Given the description of an element on the screen output the (x, y) to click on. 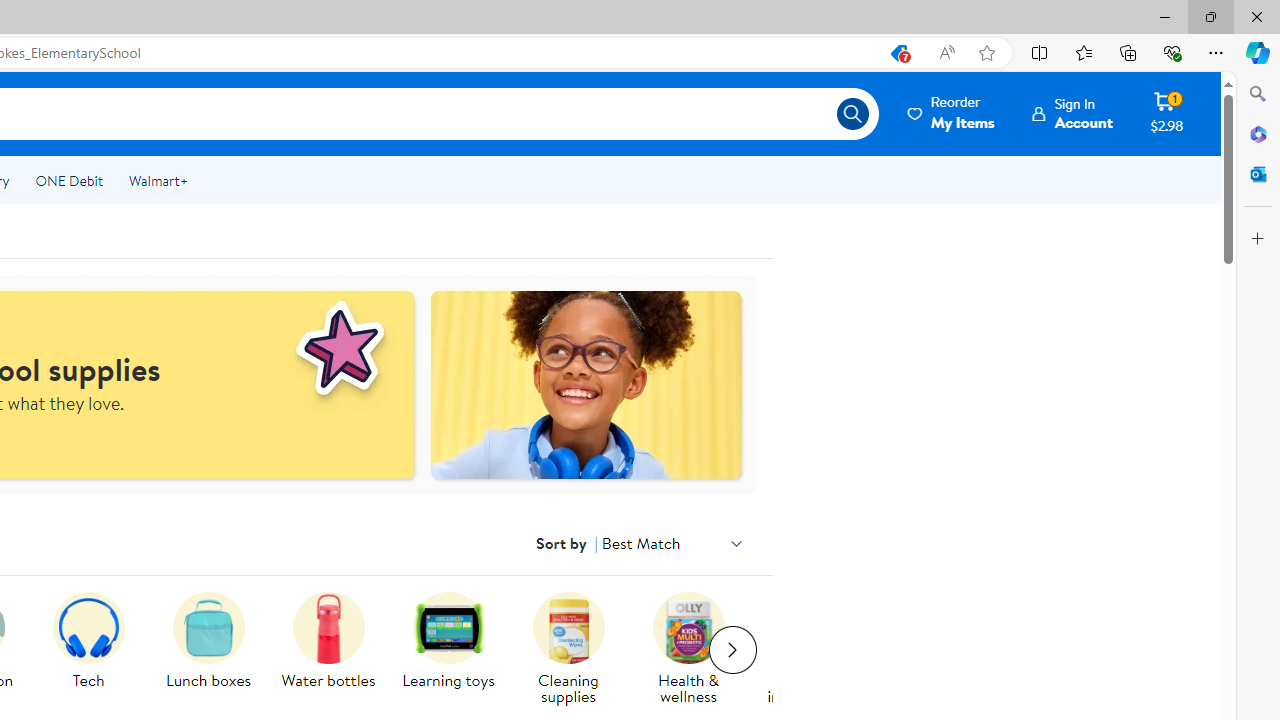
Walmart+ (158, 180)
Health & wellness (696, 650)
A red water bottle is on display. (327, 628)
Lunch boxes (207, 628)
Lunch boxes (216, 650)
Sign InAccount (1072, 113)
A blue headset is on display. (88, 628)
ReorderMy Items (952, 113)
